Given the description of an element on the screen output the (x, y) to click on. 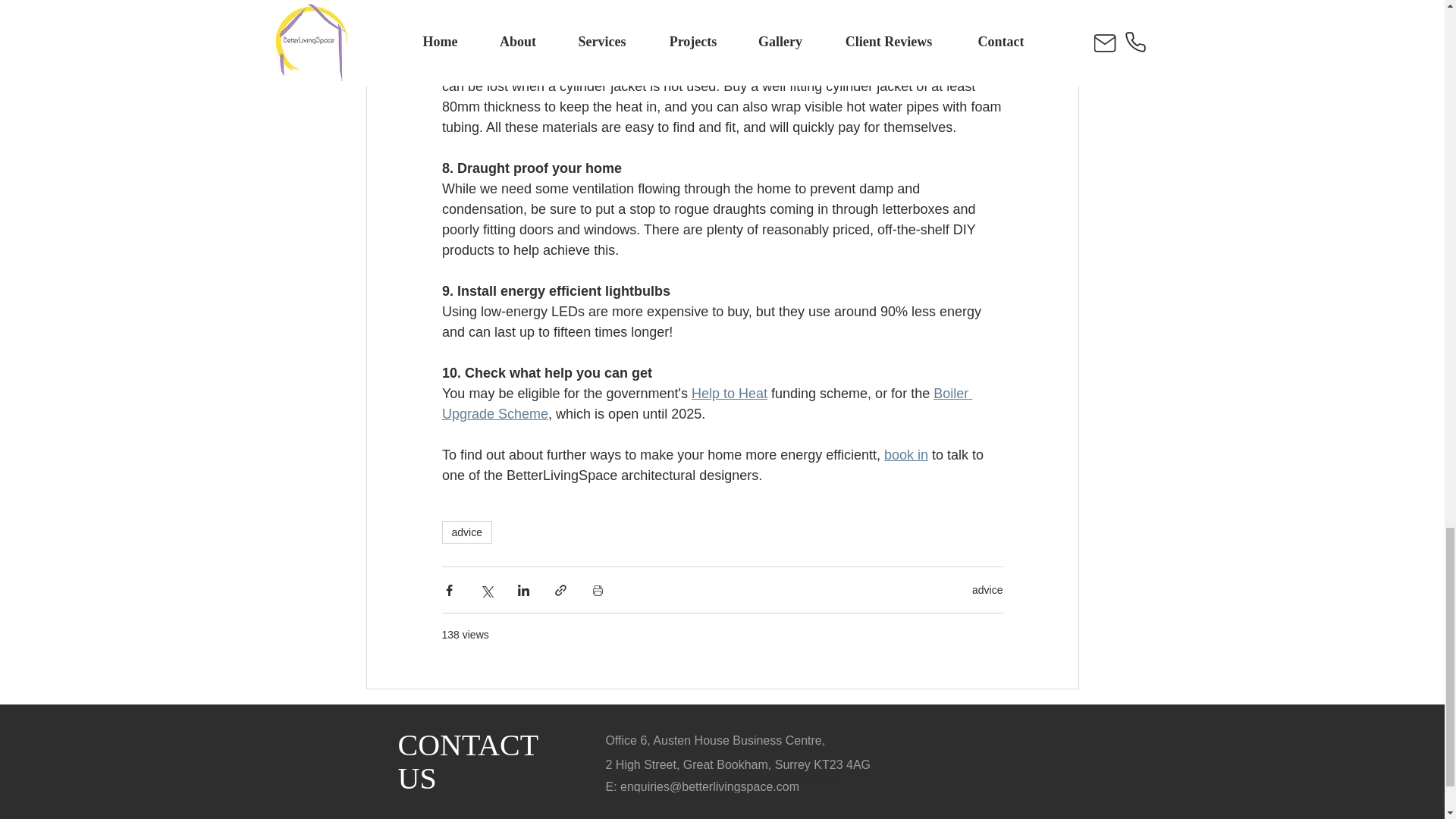
Help to Heat (728, 393)
Boiler Upgrade Scheme (706, 403)
